Given the description of an element on the screen output the (x, y) to click on. 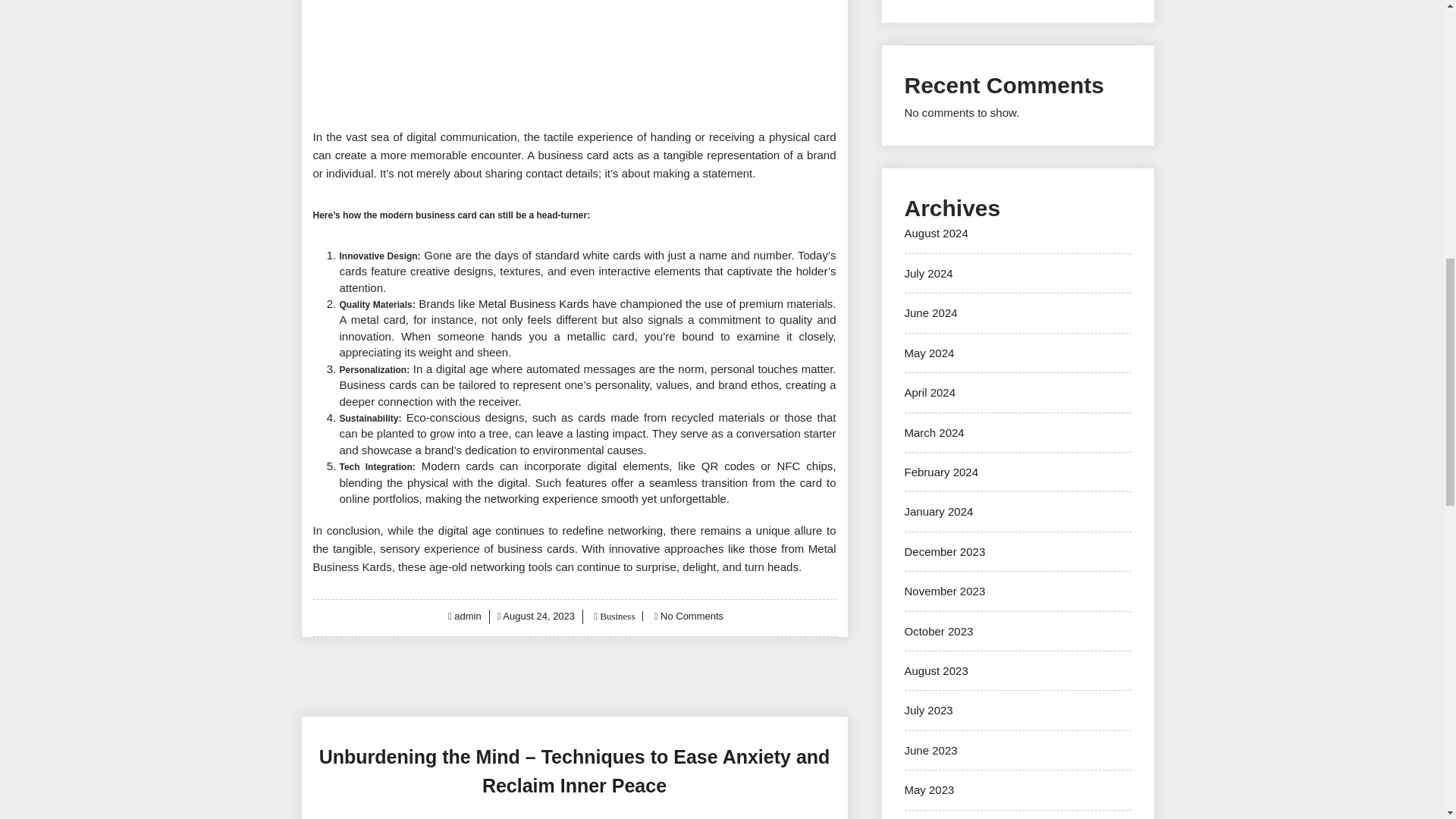
August 2024 (936, 232)
Metal Business Kards (534, 303)
August 24, 2023 (538, 615)
admin (467, 615)
June 2024 (930, 312)
April 2024 (929, 391)
No Comments (692, 615)
Business (615, 615)
May 2024 (928, 352)
July 2024 (928, 273)
